Given the description of an element on the screen output the (x, y) to click on. 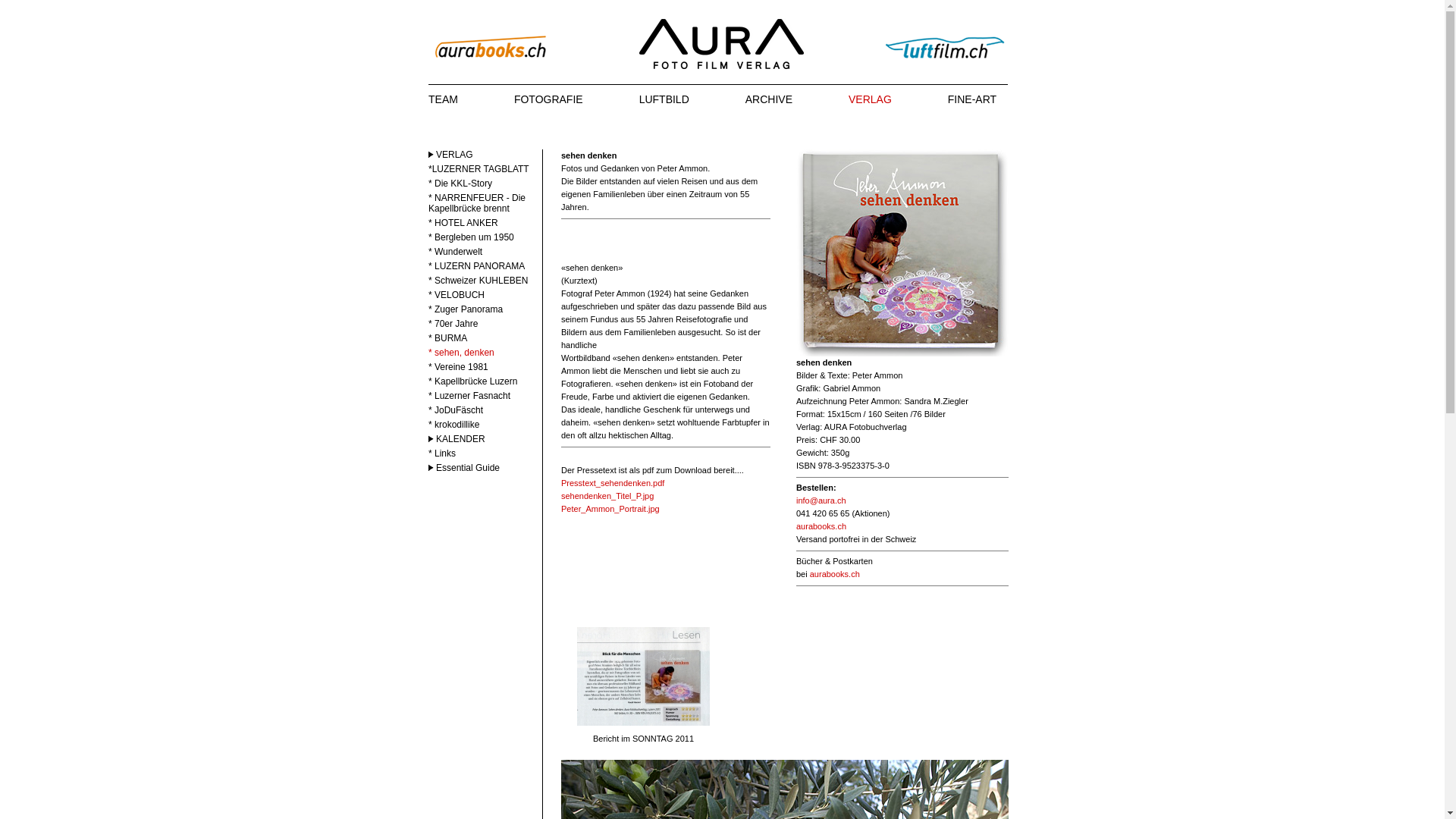
TEAM Element type: text (443, 99)
*LUZERNER TAGBLATT Element type: text (478, 168)
aurabooks.ch Element type: text (821, 525)
* Vereine 1981 Element type: text (458, 366)
* krokodillike Element type: text (453, 424)
* HOTEL ANKER Element type: text (463, 222)
* Wunderwelt Element type: text (455, 251)
VERLAG Element type: text (450, 154)
* BURMA Element type: text (447, 337)
FINE-ART Element type: text (971, 99)
* Schweizer KUHLEBEN Element type: text (477, 280)
* sehen, denken Element type: text (461, 352)
Presstext_sehendenken.pdf Element type: text (612, 482)
* Zuger Panorama Element type: text (465, 309)
info@aura.ch Element type: text (821, 500)
* Links Element type: text (441, 453)
KALENDER Element type: text (456, 438)
ARCHIVE Element type: text (768, 99)
sehendenken_Titel_P.jpg Element type: text (607, 495)
* Die KKL-Story Element type: text (460, 183)
FOTOGRAFIE Element type: text (548, 99)
Aura Fotoagentur Element type: hover (722, 41)
* Luzerner Fasnacht Element type: text (469, 395)
* LUZERN PANORAMA Element type: text (476, 265)
LUFTBILD Element type: text (664, 99)
Peter_Ammon_Portrait.jpg Element type: text (610, 508)
* VELOBUCH Element type: text (456, 294)
Essential Guide Element type: text (463, 467)
Bericht im SONNTAG 2011 Element type: hover (643, 722)
* Bergleben um 1950 Element type: text (471, 237)
aurabooks.ch Element type: text (834, 573)
* 70er Jahre Element type: text (452, 323)
VERLAG Element type: text (869, 99)
